Given the description of an element on the screen output the (x, y) to click on. 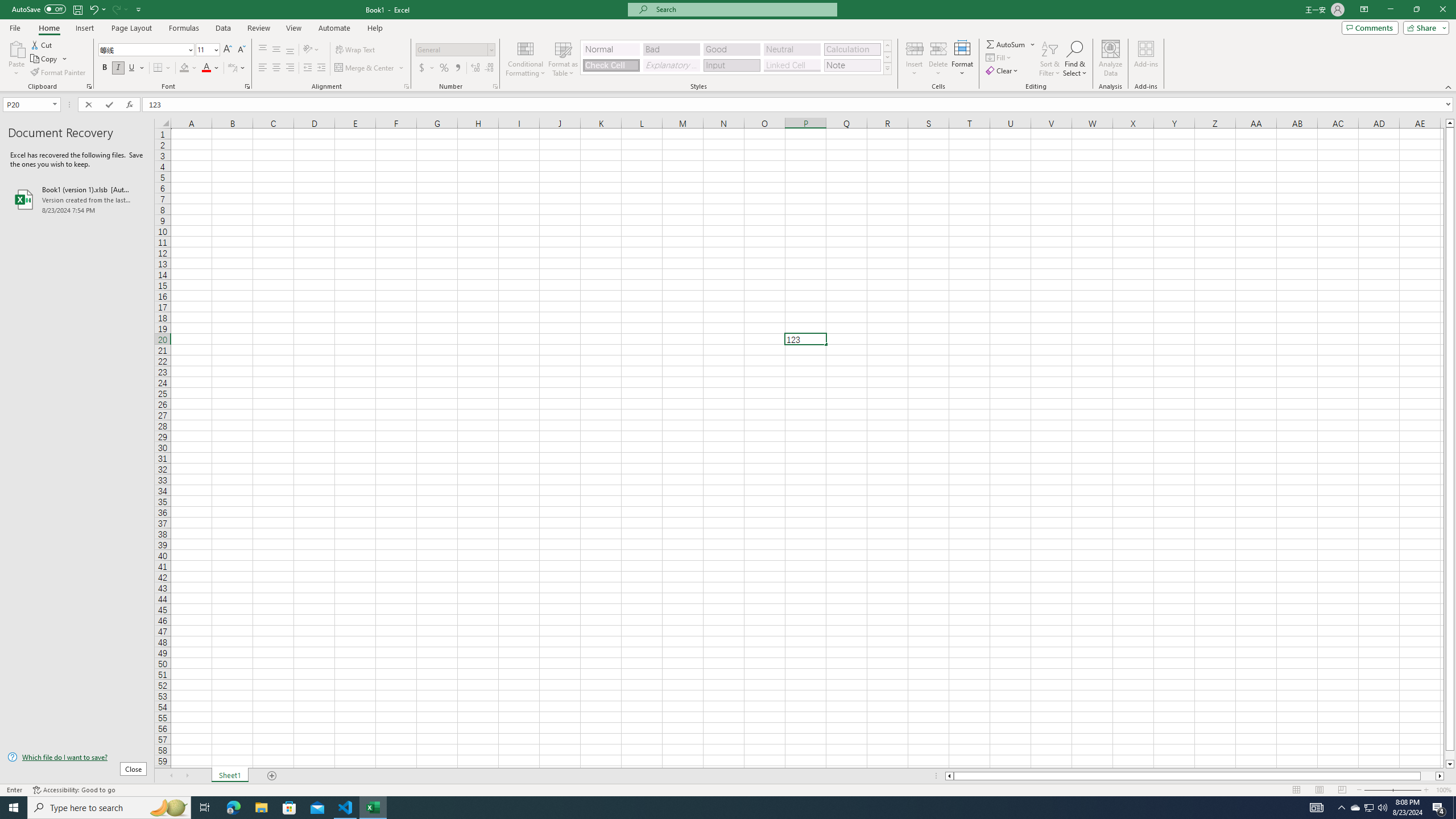
AutoSum (1011, 44)
